Given the description of an element on the screen output the (x, y) to click on. 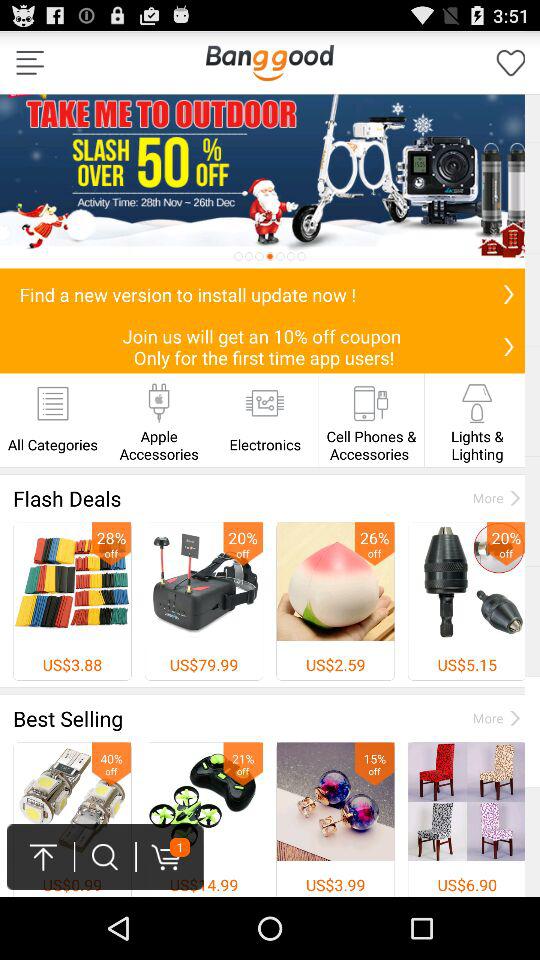
click on the image above electronics (264, 403)
